Given the description of an element on the screen output the (x, y) to click on. 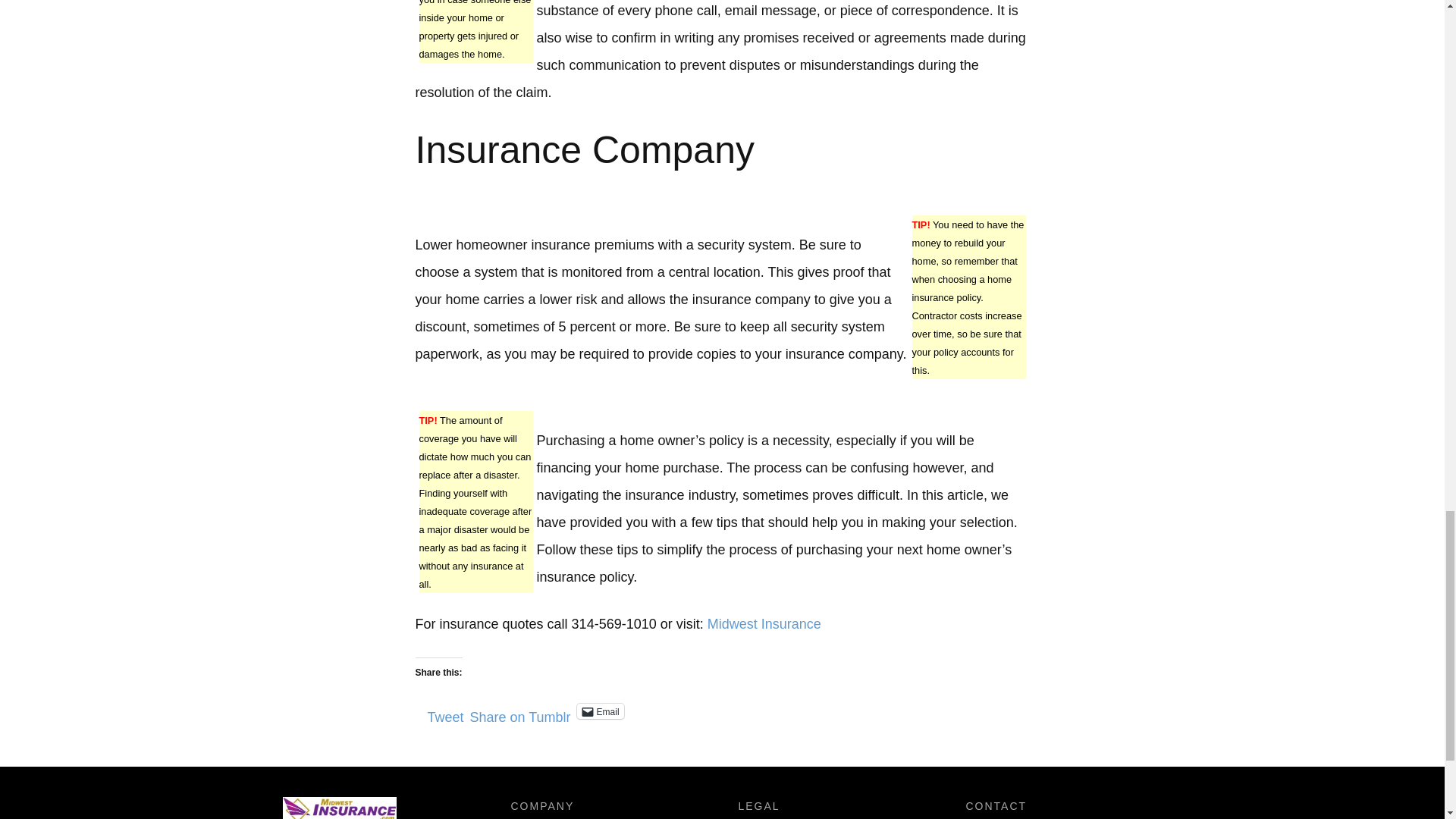
Click to email a link to a friend (600, 711)
Email (600, 711)
Midwest Insurance (764, 623)
Insurance Quotes Online (764, 623)
